Given the description of an element on the screen output the (x, y) to click on. 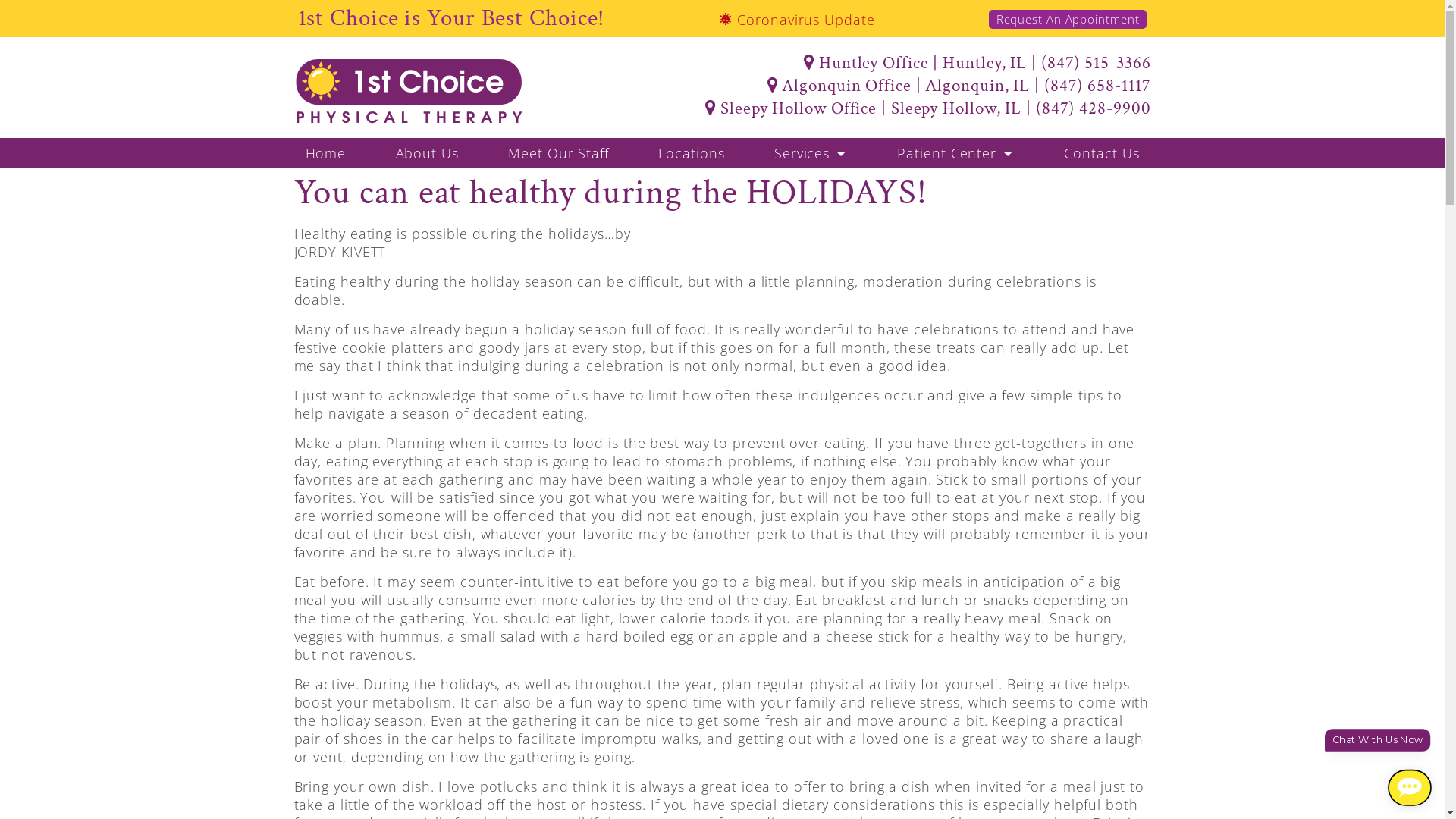
Home Element type: text (325, 153)
Contact Us Element type: text (1101, 153)
Services Element type: text (810, 153)
Meet Our Staff Element type: text (558, 153)
Huntley Office | Huntley, IL | (847) 515-3366 Element type: text (894, 62)
Coronavirus Update Element type: text (796, 19)
Locations Element type: text (690, 153)
Algonquin Office | Algonquin, IL | (847) 658-1117 Element type: text (894, 85)
Sleepy Hollow Office | Sleepy Hollow, IL | (847) 428-9900 Element type: text (894, 108)
Patient Center Element type: text (955, 153)
About Us Element type: text (427, 153)
You can eat healthy during the HOLIDAYS! Element type: text (610, 192)
Request An Appointment Element type: text (1067, 18)
